Given the description of an element on the screen output the (x, y) to click on. 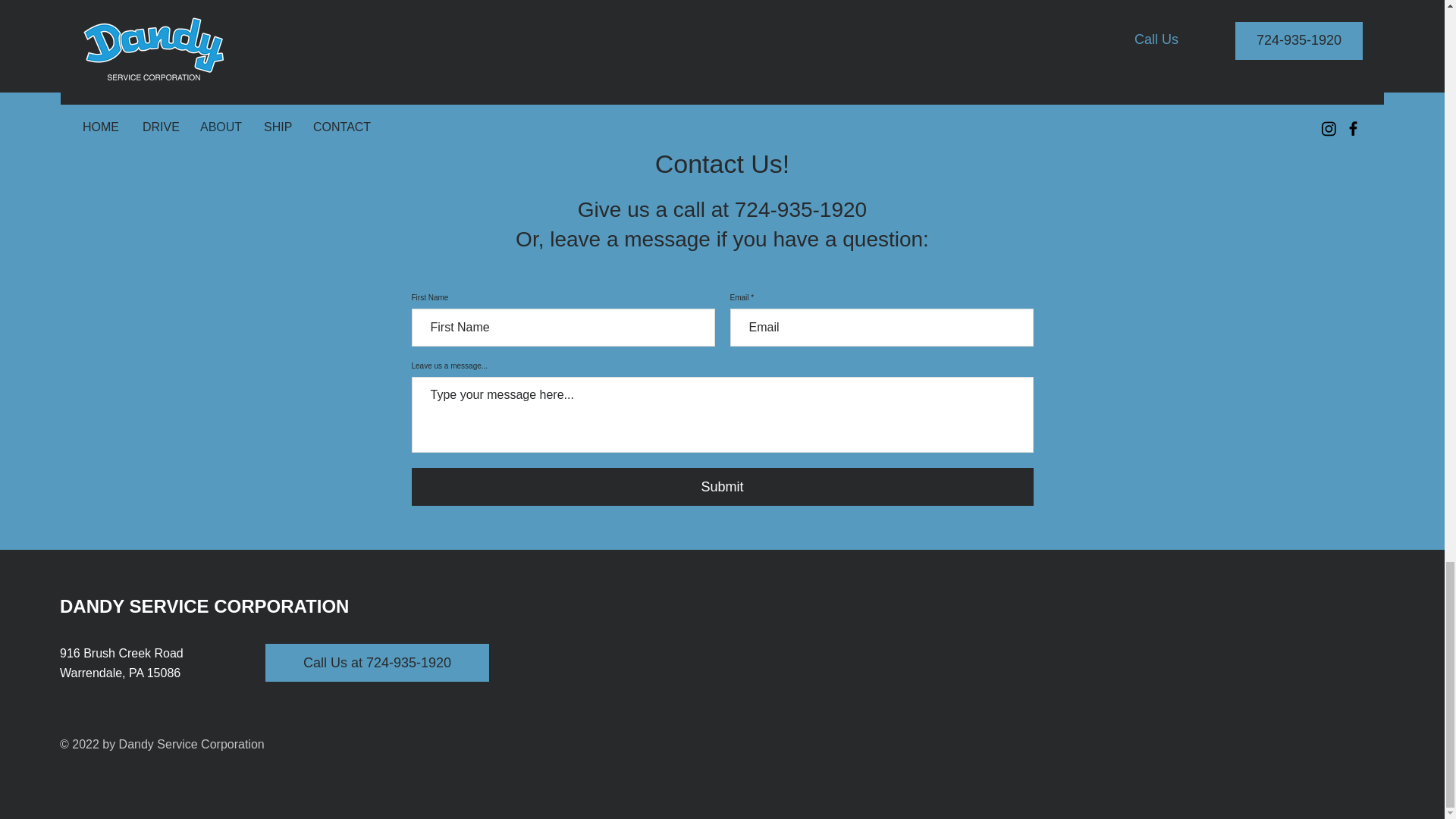
Submit (721, 486)
DANDY SERVICE CORPORATION (204, 606)
Call Us at 724-935-1920 (376, 662)
